Given the description of an element on the screen output the (x, y) to click on. 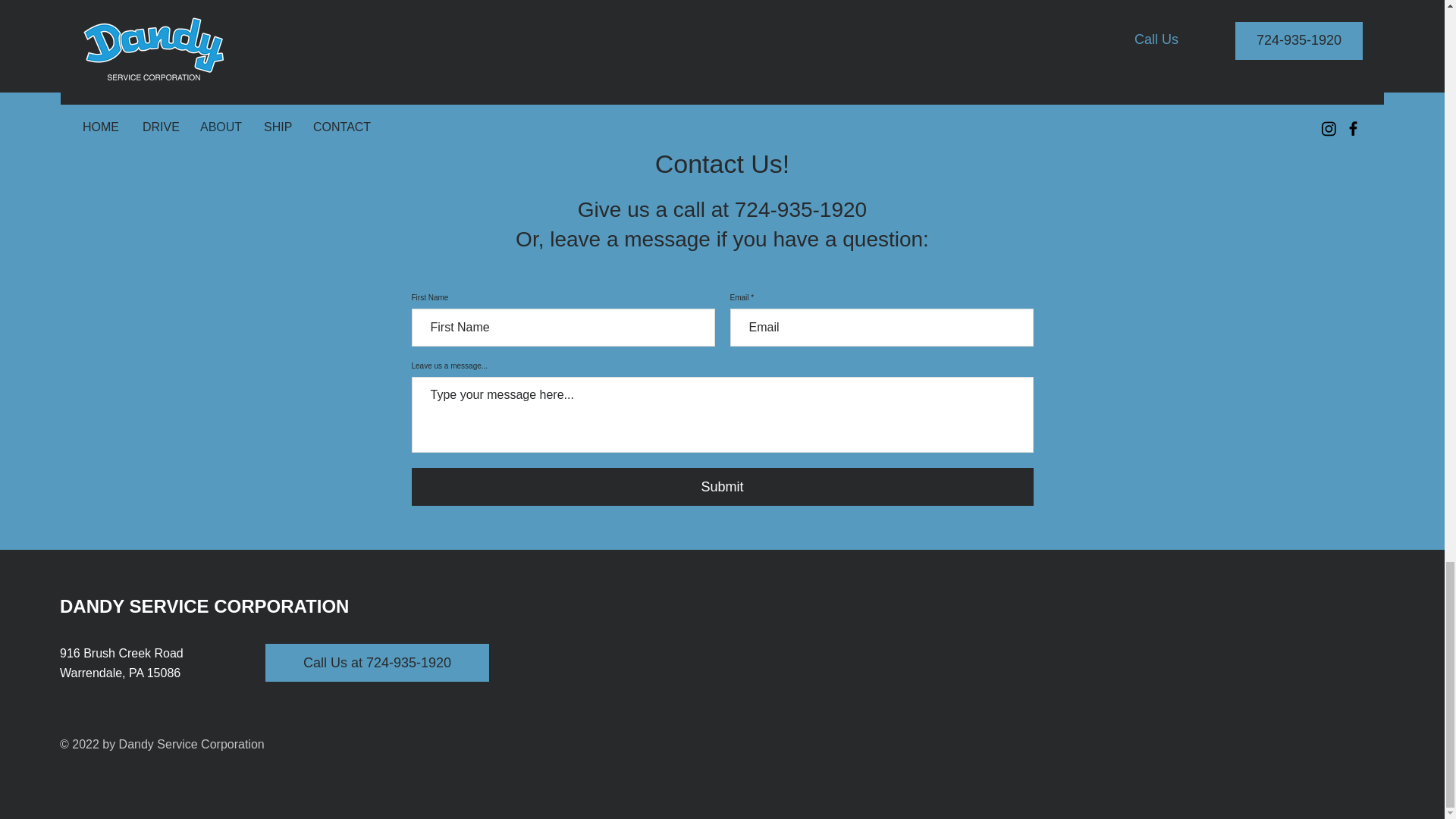
Submit (721, 486)
DANDY SERVICE CORPORATION (204, 606)
Call Us at 724-935-1920 (376, 662)
